Given the description of an element on the screen output the (x, y) to click on. 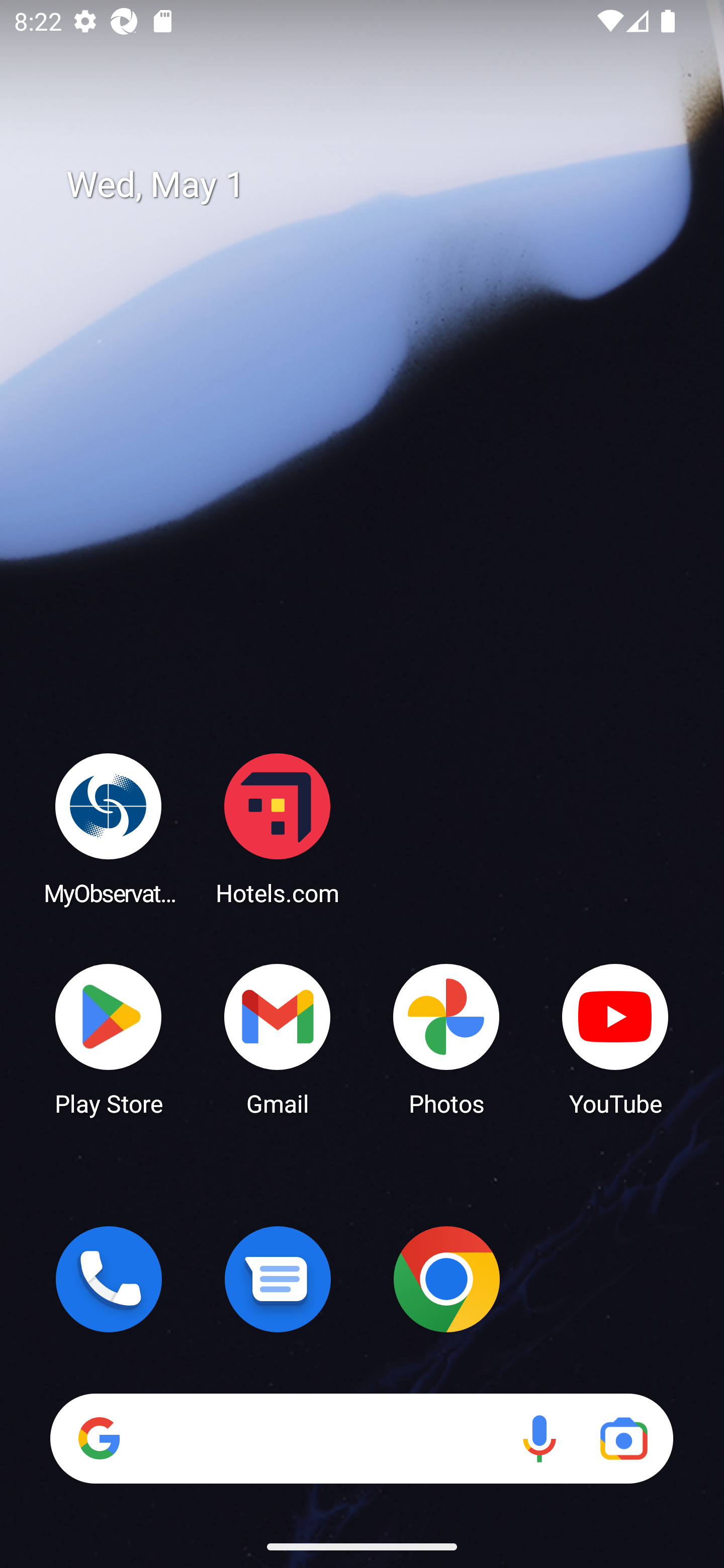
Wed, May 1 (375, 184)
MyObservatory (108, 828)
Hotels.com (277, 828)
Play Store (108, 1038)
Gmail (277, 1038)
Photos (445, 1038)
YouTube (615, 1038)
Phone (108, 1279)
Messages (277, 1279)
Chrome (446, 1279)
Search Voice search Google Lens (361, 1438)
Voice search (539, 1438)
Google Lens (623, 1438)
